Given the description of an element on the screen output the (x, y) to click on. 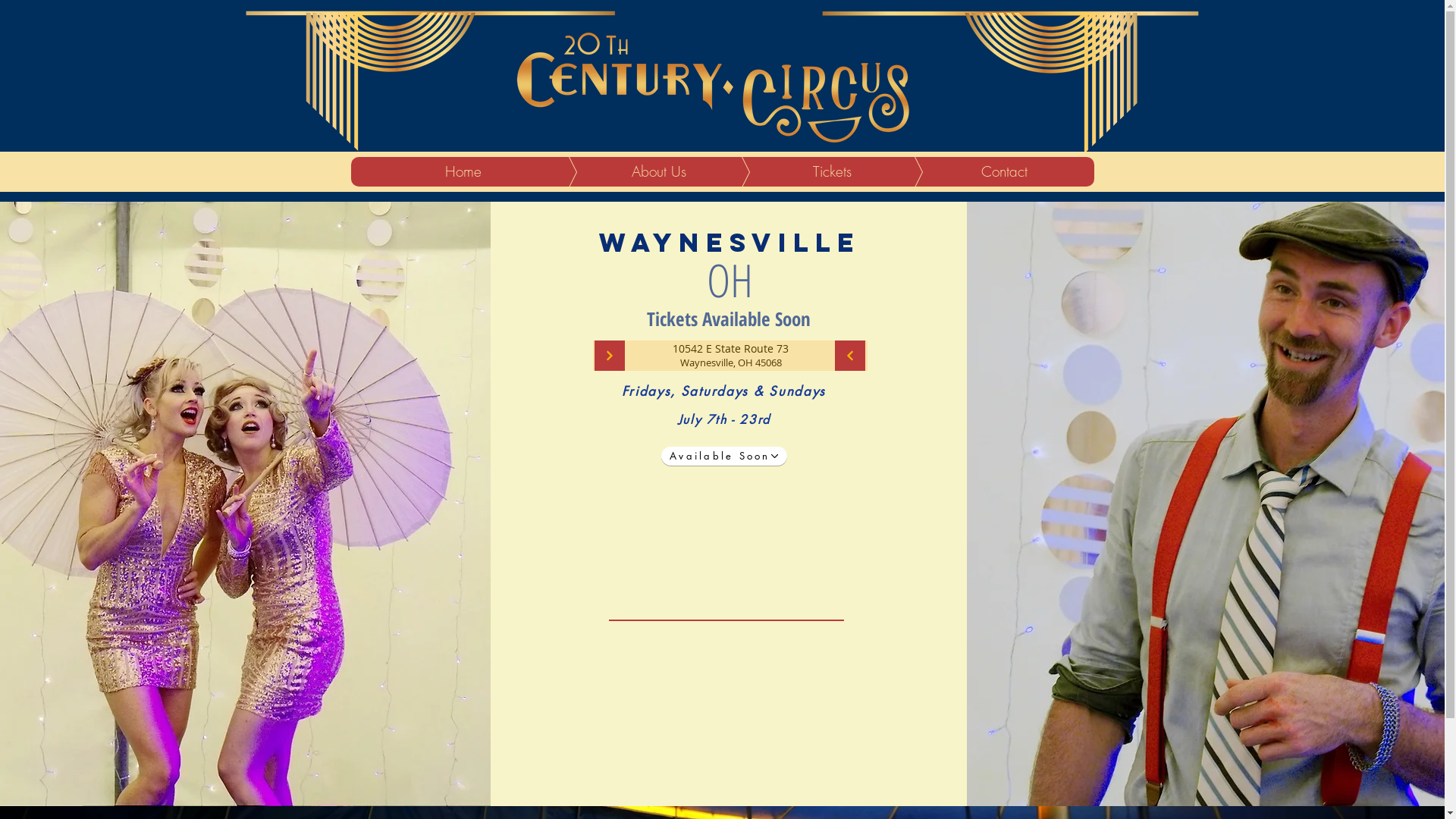
Contact Element type: text (981, 171)
About Us Element type: text (635, 171)
Tickets Element type: text (808, 171)
Available Soon Element type: text (724, 455)
Home Element type: text (462, 171)
